Given the description of an element on the screen output the (x, y) to click on. 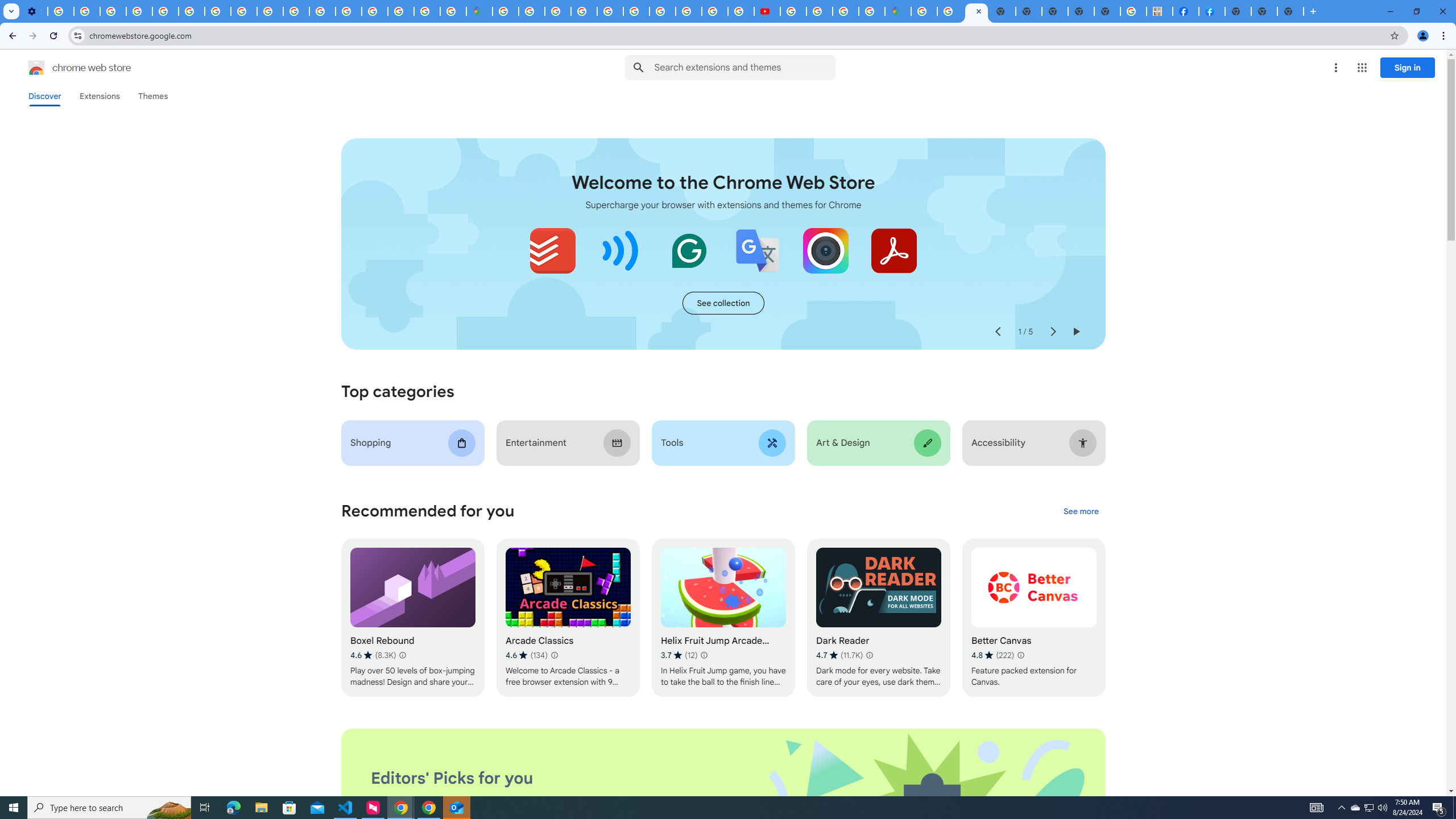
Average rating 4.6 out of 5 stars. 8.3K ratings. (372, 655)
Previous slide (997, 331)
Search input (744, 67)
Sign in (1407, 67)
Dark Reader (878, 617)
Learn more about results and reviews "Arcade Classics" (553, 655)
